Given the description of an element on the screen output the (x, y) to click on. 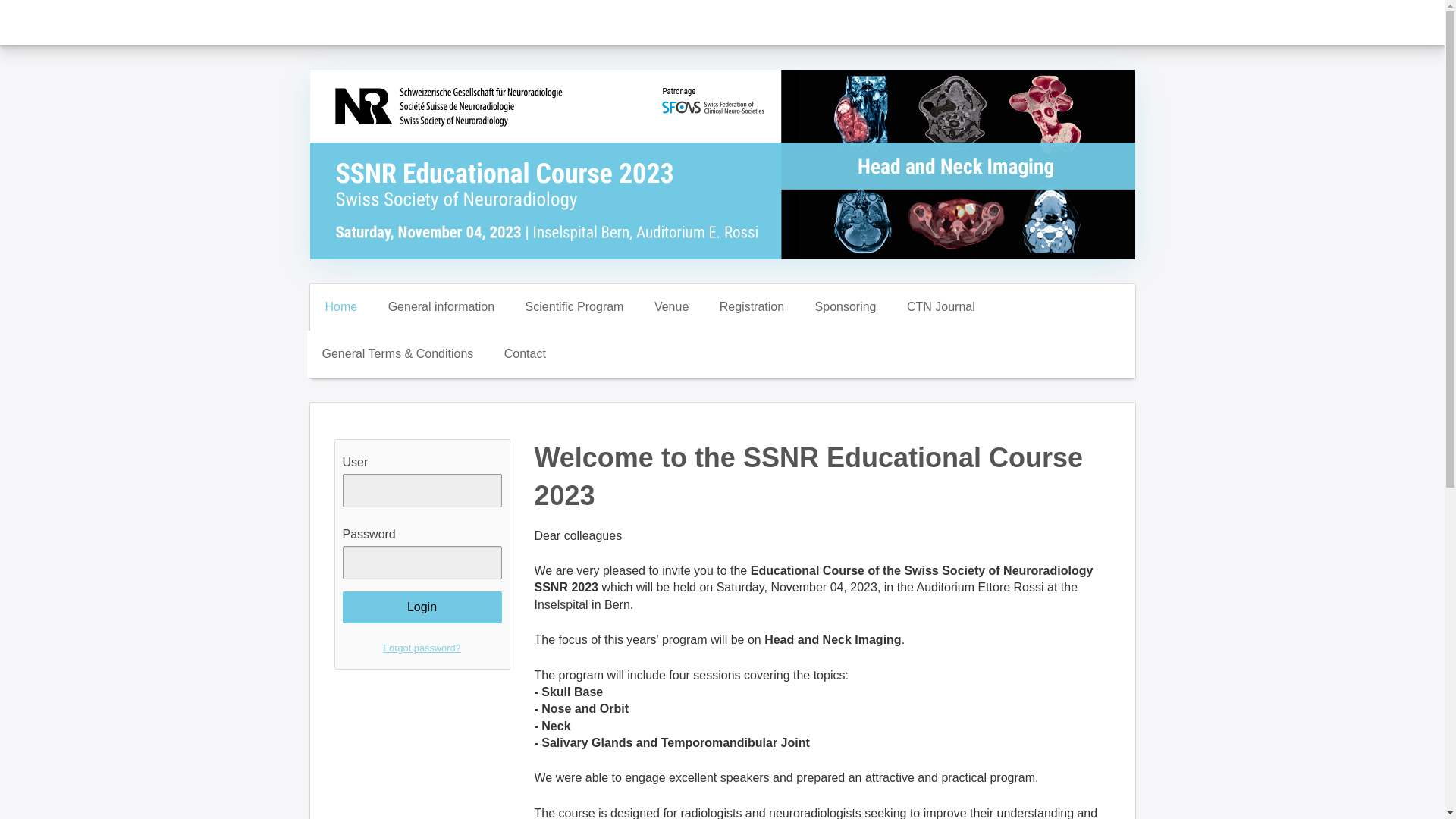
Forgot password? (422, 647)
Scientific Program (575, 306)
General information (441, 306)
Contact (524, 353)
Venue (671, 306)
Sponsoring (845, 306)
Login (422, 607)
Home (340, 306)
Login (422, 607)
CTN Journal (940, 306)
